Given the description of an element on the screen output the (x, y) to click on. 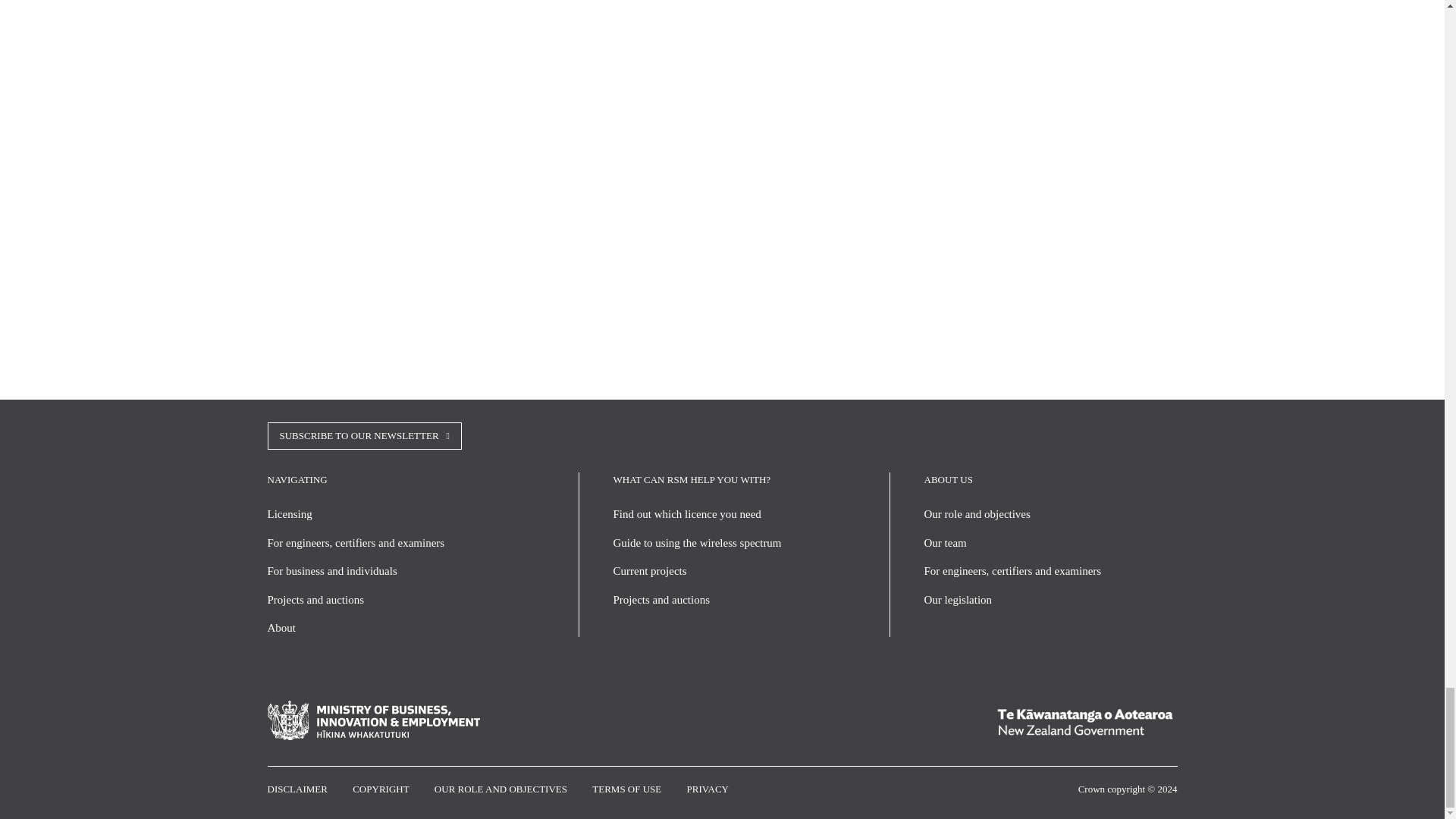
Open the New Zealand Government website in a new window.  (1081, 719)
